Given the description of an element on the screen output the (x, y) to click on. 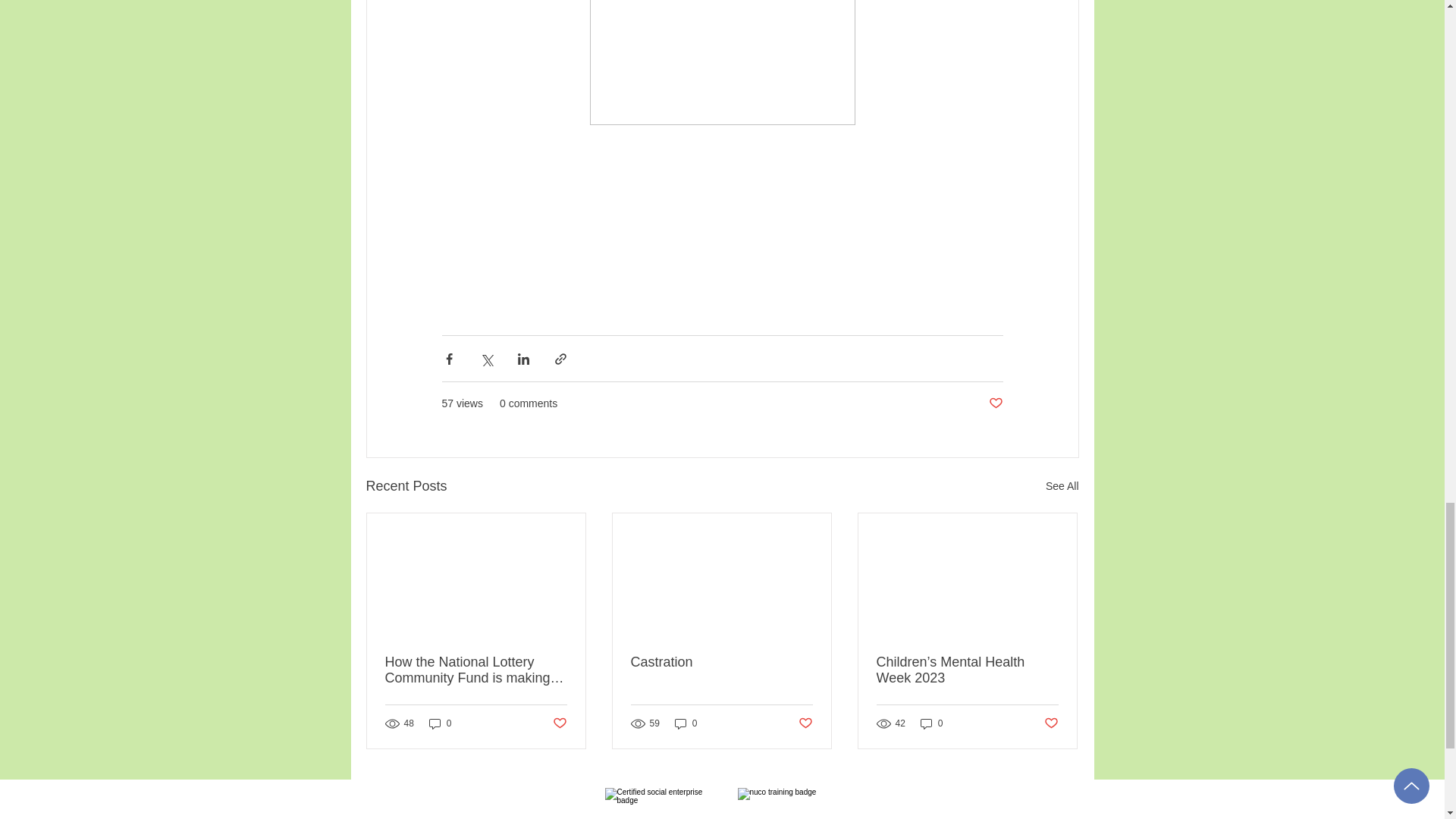
0 (685, 723)
Post not marked as liked (804, 723)
Post not marked as liked (558, 723)
Castration (721, 662)
0 (931, 723)
0 (440, 723)
Post not marked as liked (995, 403)
Post not marked as liked (1050, 723)
See All (1061, 486)
